Given the description of an element on the screen output the (x, y) to click on. 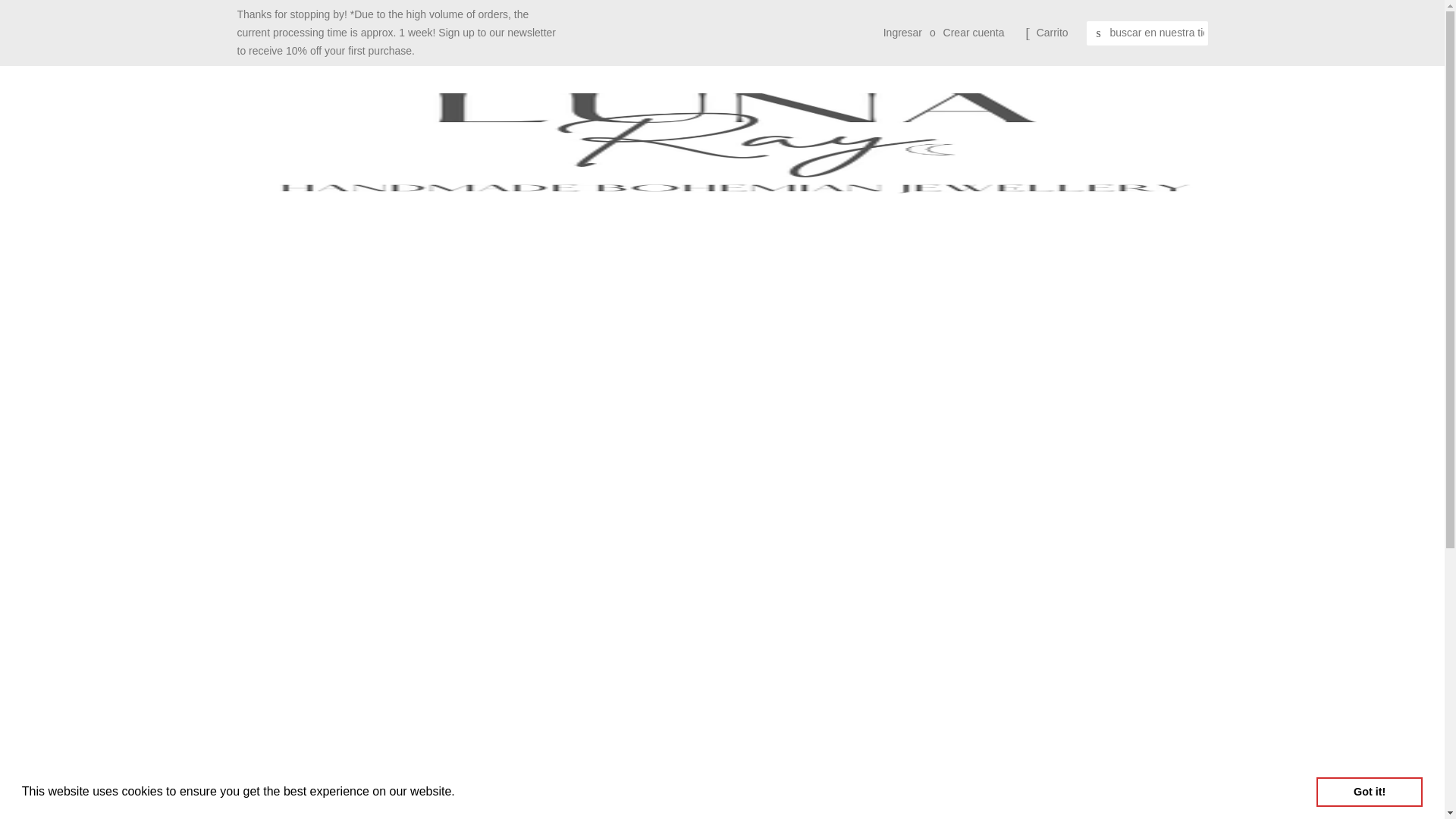
Ingresar (902, 32)
Learn More (491, 791)
BUSCAR (1097, 33)
Crear cuenta (973, 32)
Carrito (1052, 33)
Got it! (1369, 791)
